Given the description of an element on the screen output the (x, y) to click on. 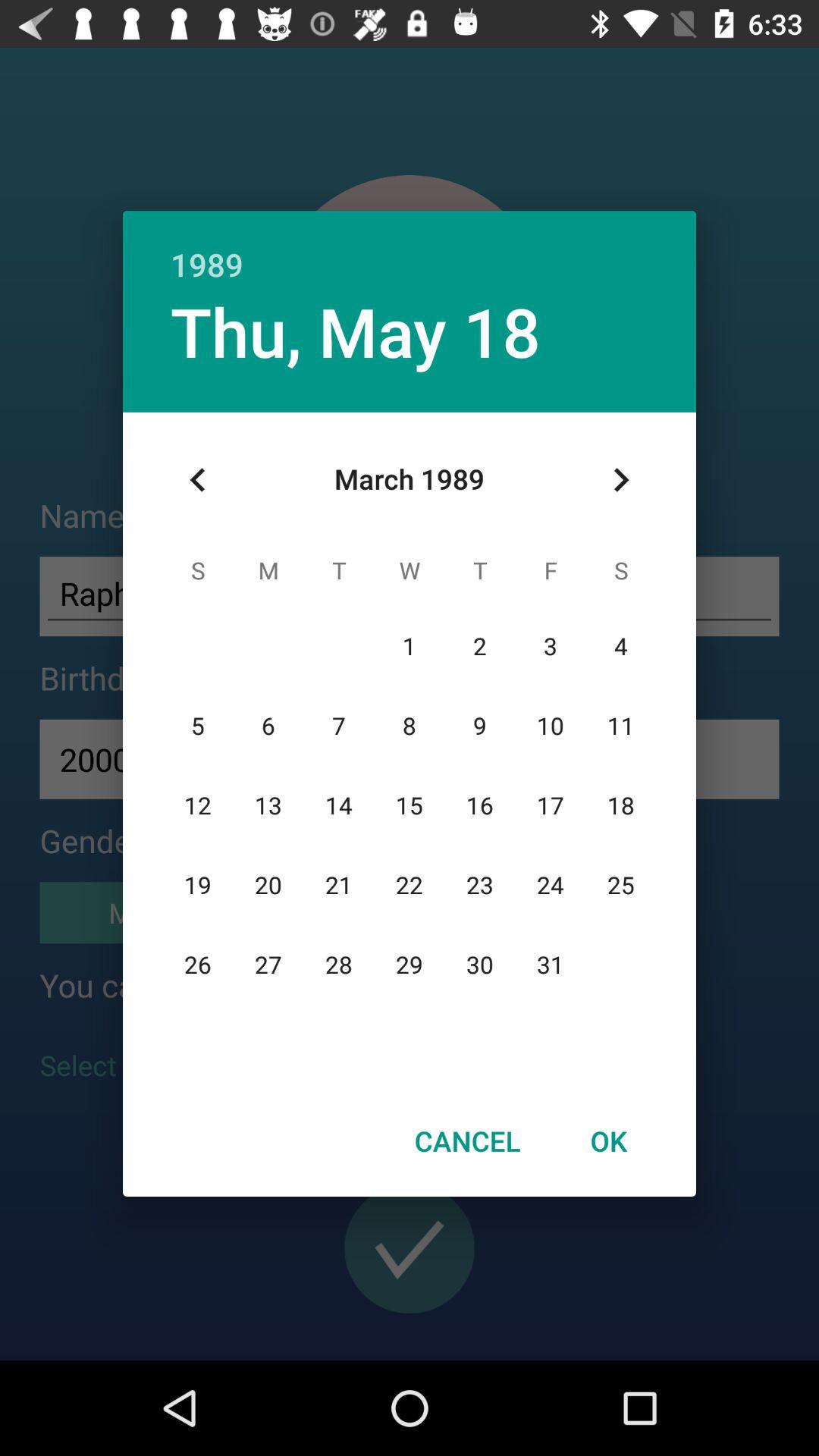
swipe to ok button (608, 1140)
